Given the description of an element on the screen output the (x, y) to click on. 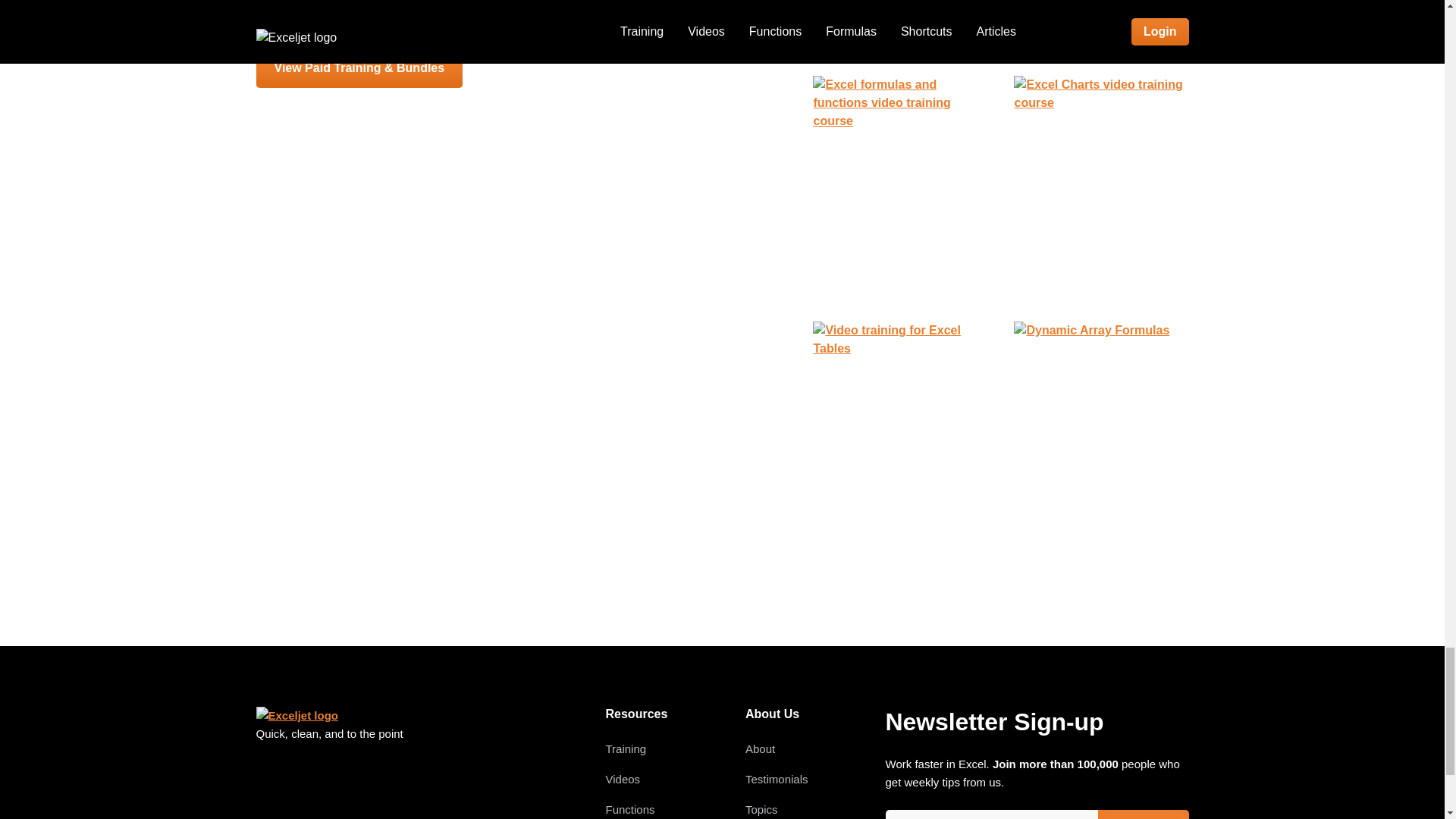
Excel foundational video course (899, 25)
Excel Pivot Table video training course (1100, 25)
Subscribe (1143, 814)
Exceljet Video Training (625, 748)
Excel Training Videos (622, 779)
